Given the description of an element on the screen output the (x, y) to click on. 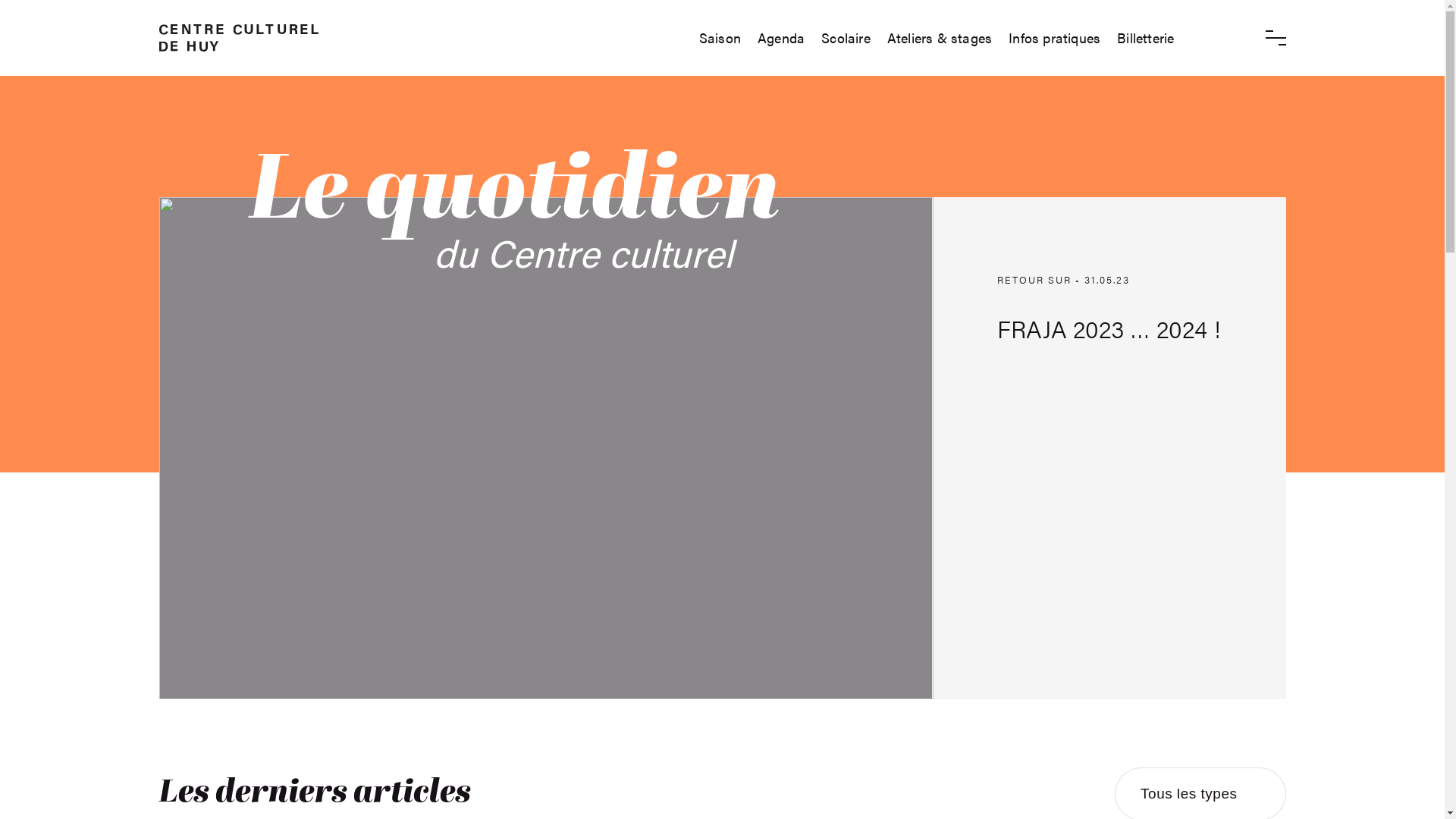
Billetterie Element type: text (1145, 37)
Ateliers & stages Element type: text (939, 37)
Ouvrir / fermer le menu Element type: text (1275, 37)
Scolaire Element type: text (845, 37)
Voir l'article Element type: text (722, 448)
Agenda Element type: text (780, 37)
Saison Element type: text (719, 37)
Infos pratiques Element type: text (1054, 37)
